Given the description of an element on the screen output the (x, y) to click on. 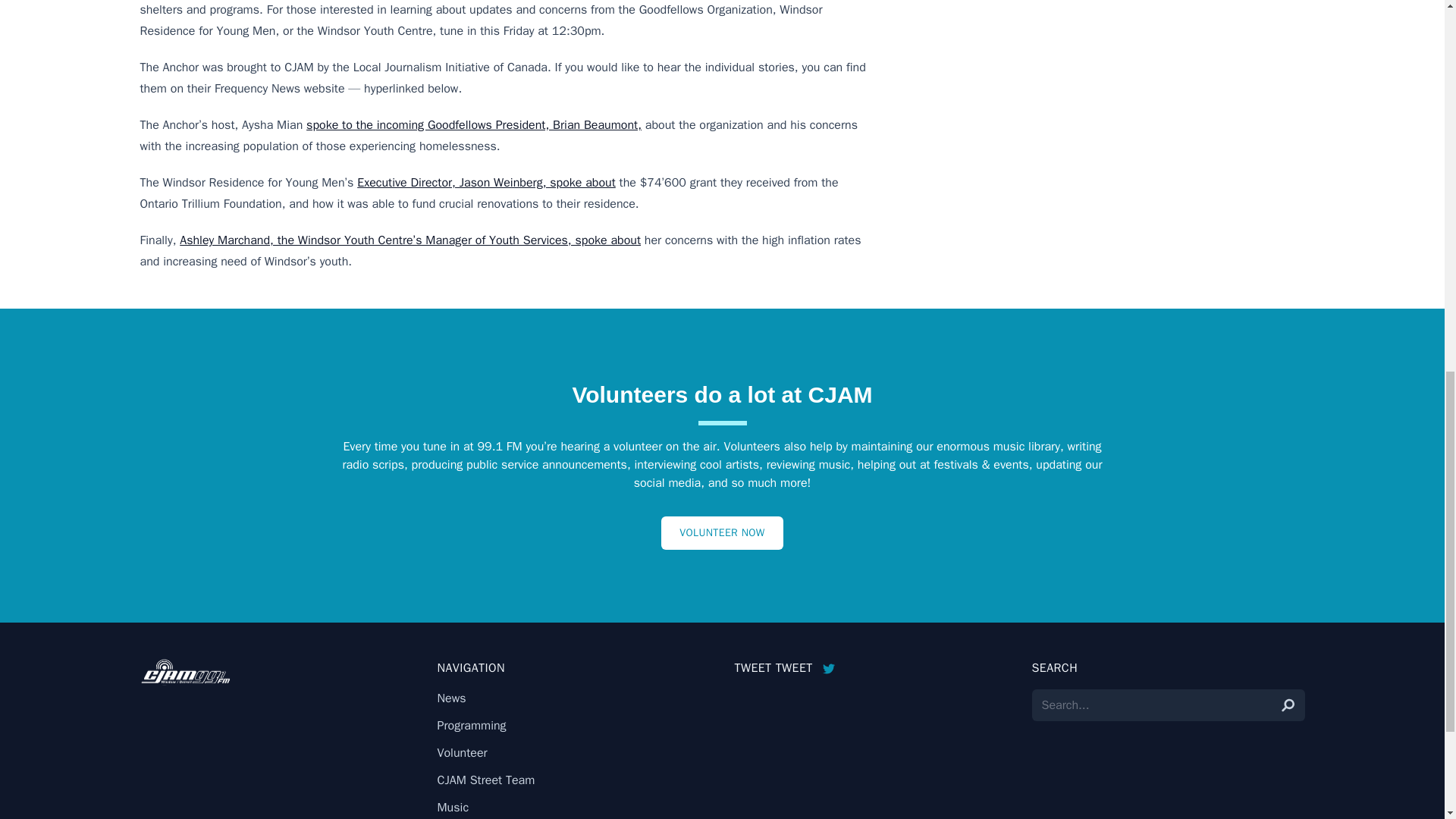
spoke to the incoming Goodfellows President, Brian Beaumont, (473, 124)
Executive Director, Jason Weinberg, spoke about (485, 182)
